Given the description of an element on the screen output the (x, y) to click on. 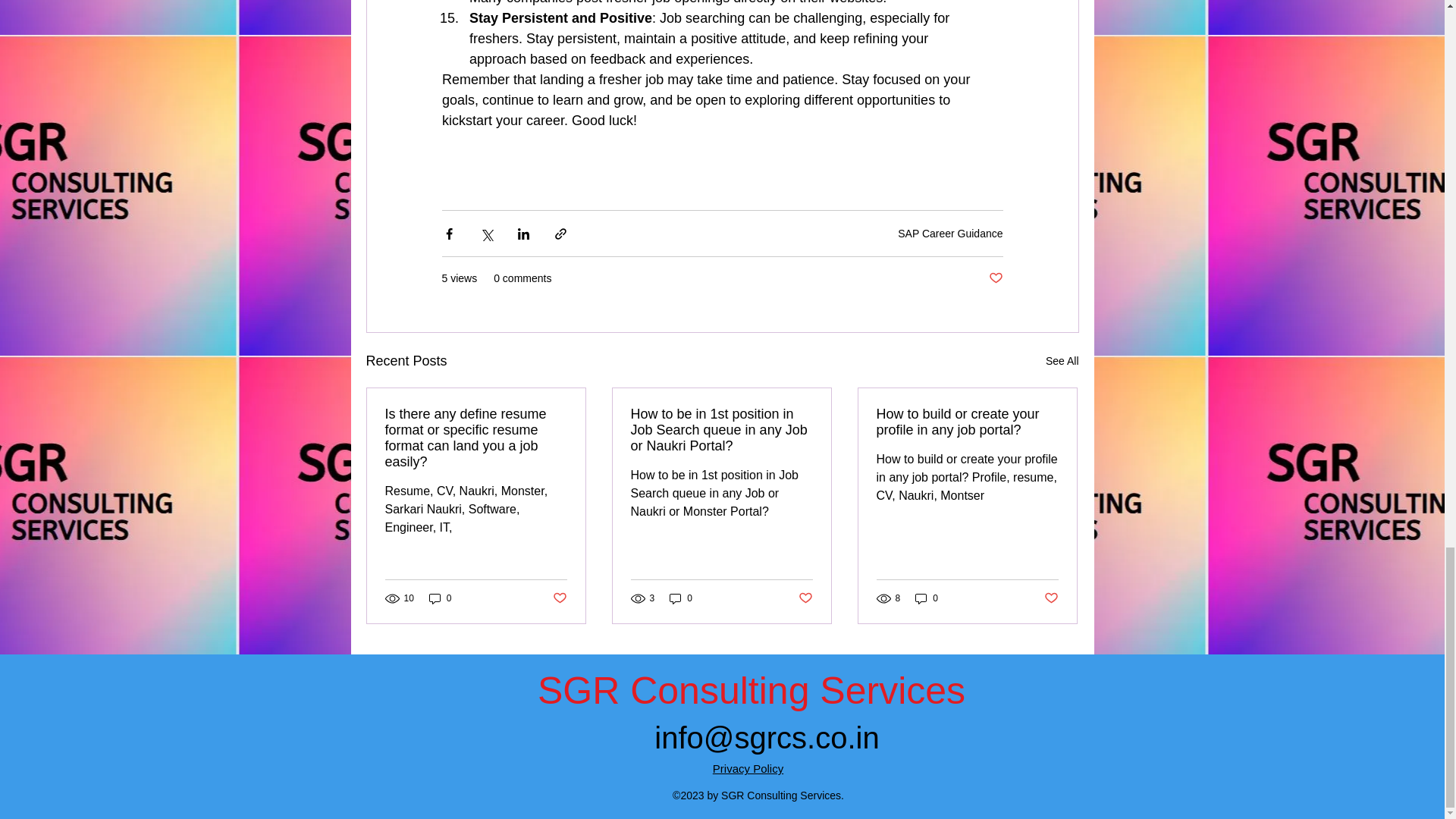
0 (440, 598)
Post not marked as liked (1050, 598)
Post not marked as liked (804, 598)
Post not marked as liked (558, 598)
0 (926, 598)
SAP Career Guidance (950, 233)
Post not marked as liked (995, 278)
Privacy Policy (748, 768)
